Given the description of an element on the screen output the (x, y) to click on. 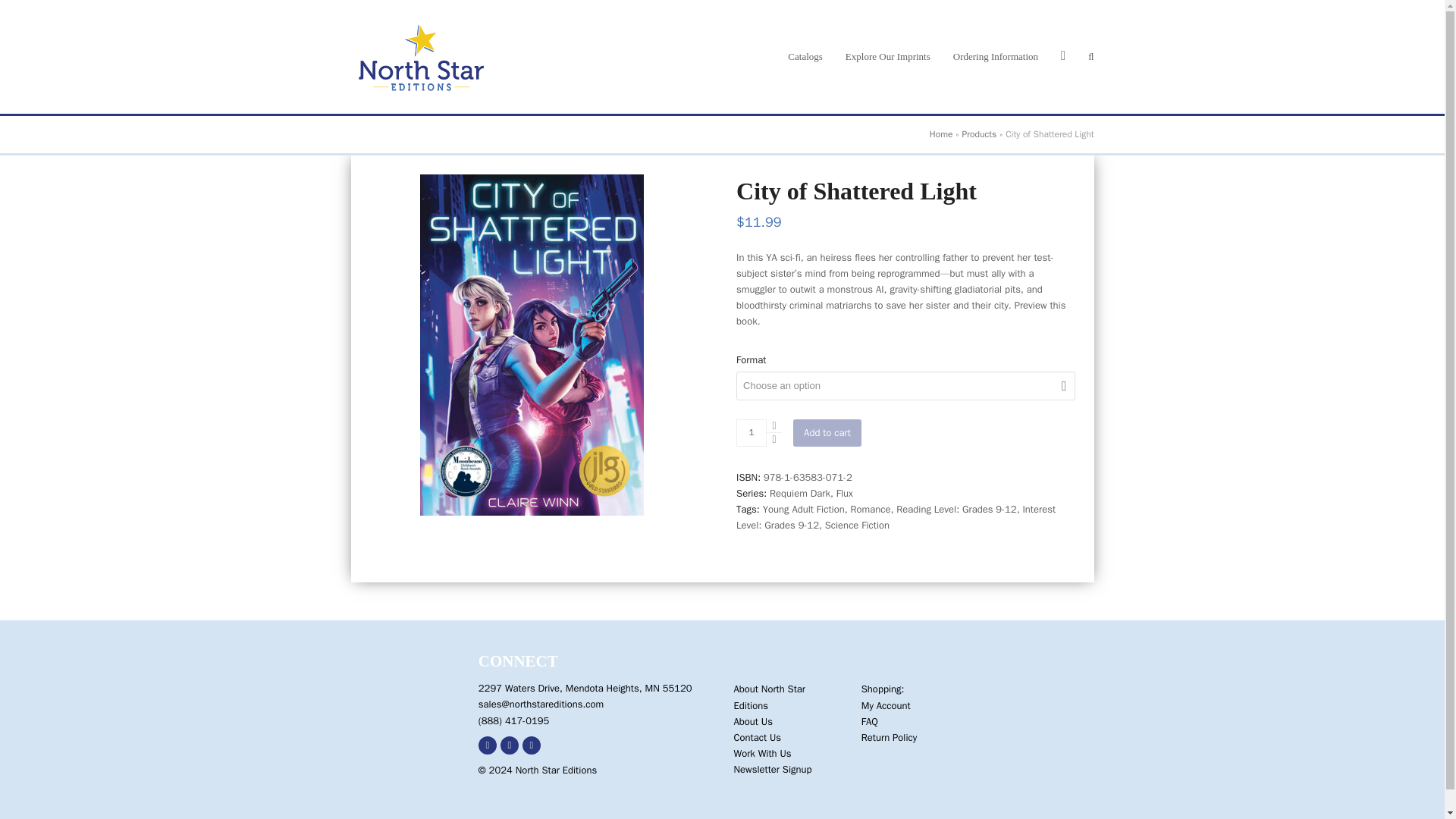
Young Adult Fiction (803, 508)
Instagram (531, 745)
1 (751, 432)
Explore Our Imprints (888, 56)
Twitter (509, 745)
Facebook (487, 745)
Science Fiction (857, 524)
Home (941, 133)
Preview this book. (900, 312)
Ordering Information (995, 56)
Reading Level: Grades 9-12 (956, 508)
Catalogs (805, 56)
Romance (869, 508)
Products (977, 133)
Flux (844, 492)
